Given the description of an element on the screen output the (x, y) to click on. 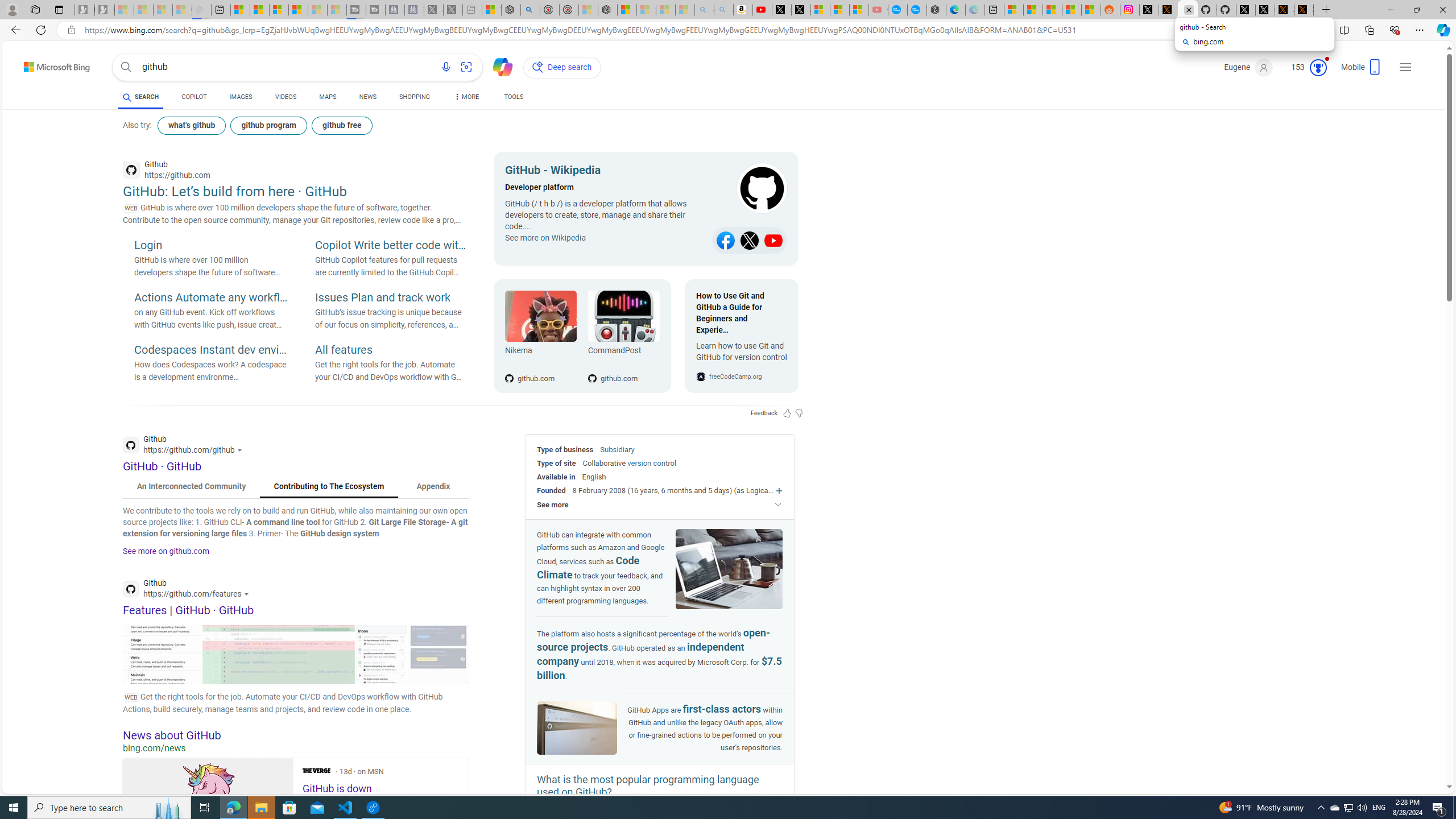
TOOLS (512, 96)
Github (188, 589)
View site information (70, 29)
Class: medal-circled (1317, 67)
version control (651, 462)
Feedback Like (786, 412)
New tab (994, 9)
MAPS (327, 98)
Issues Plan and track work (391, 298)
Workspaces (34, 9)
